Given the description of an element on the screen output the (x, y) to click on. 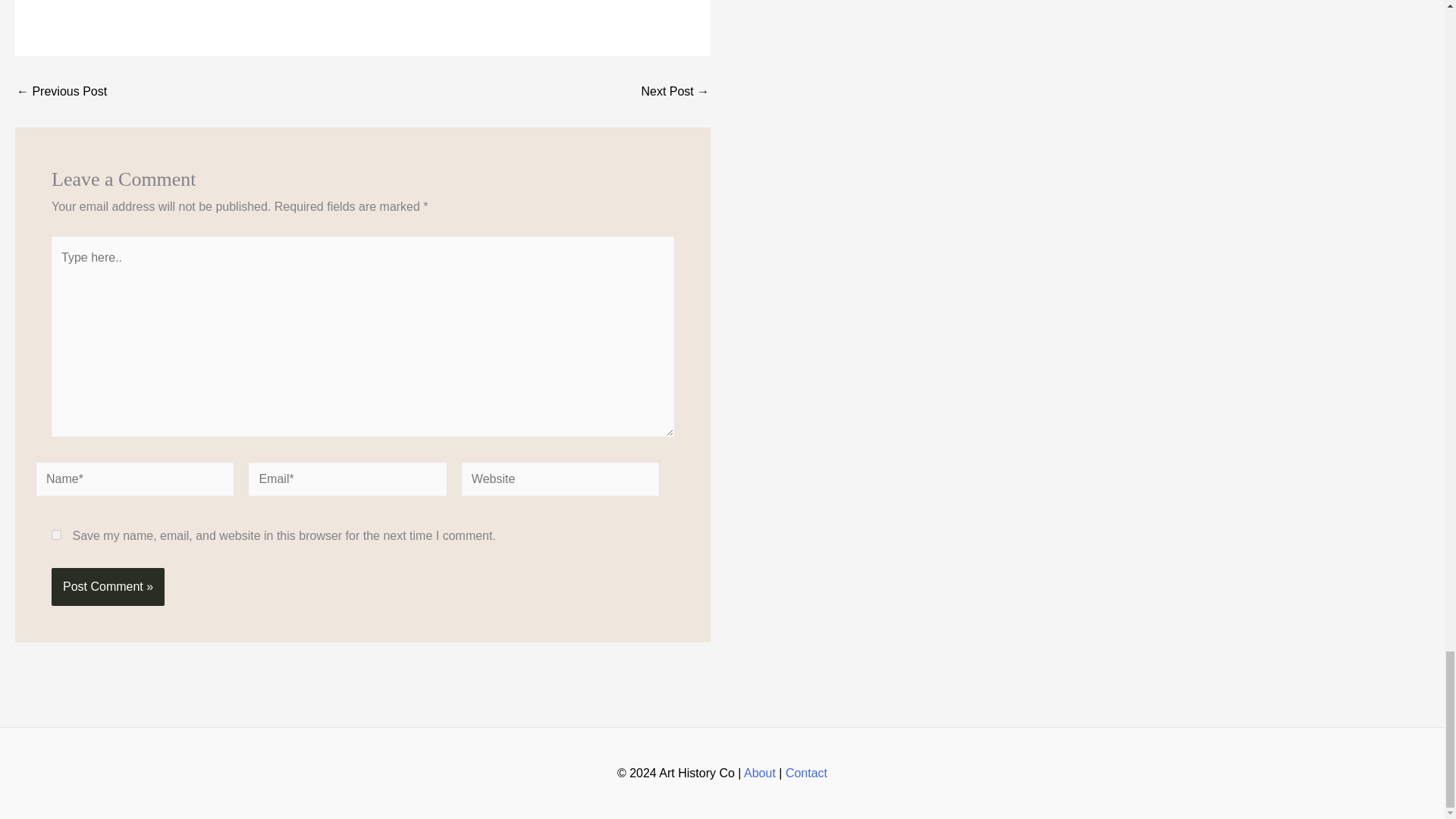
yes (55, 534)
12 of the Most Famous Dutch Golden Age Paintings (61, 91)
Best Art History Films (674, 91)
